Given the description of an element on the screen output the (x, y) to click on. 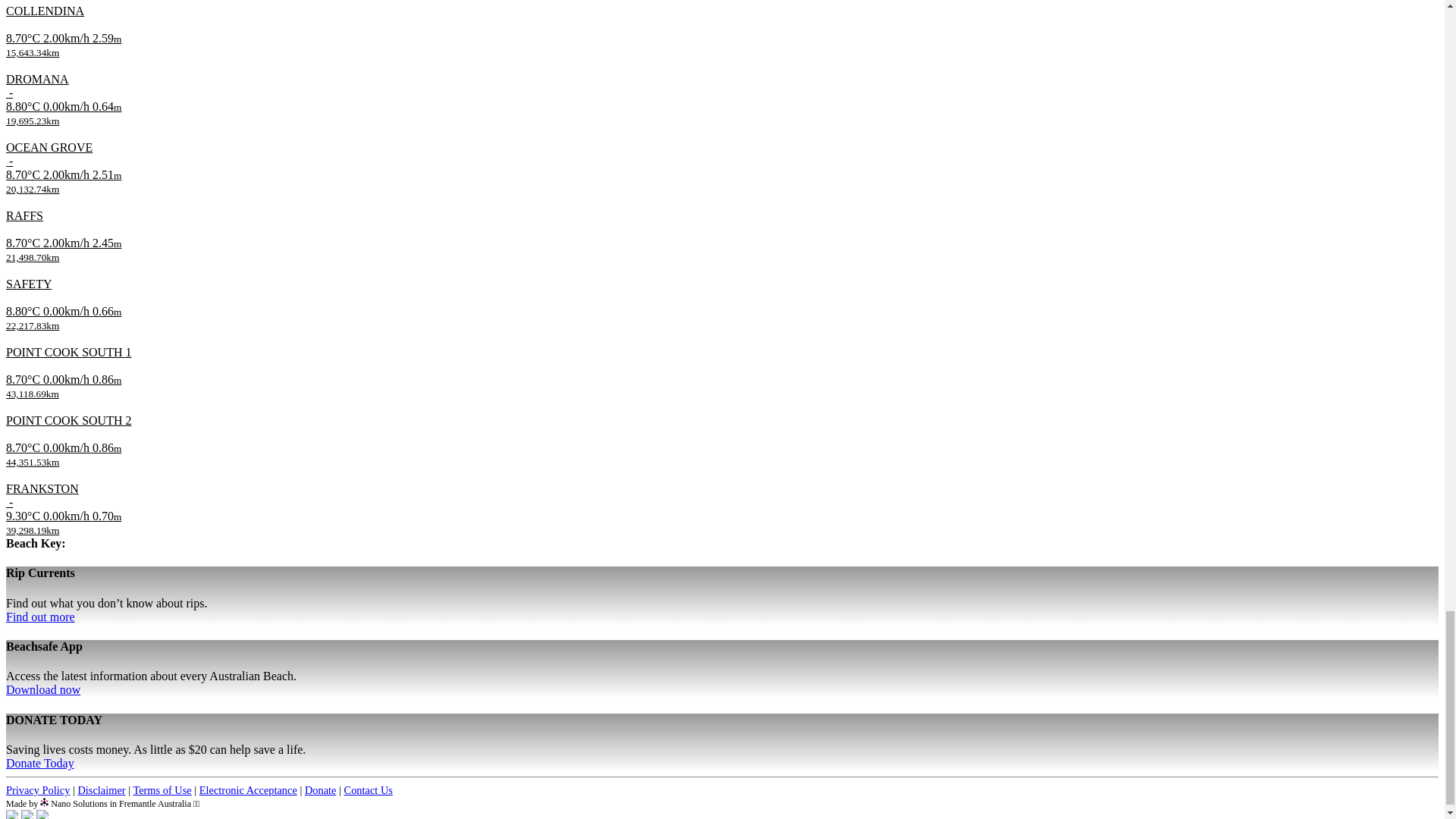
Disclaimer (101, 789)
Donate (320, 789)
Wind Speed (68, 38)
Swell (106, 38)
Find out more (40, 616)
Swell (106, 106)
Sunny. (24, 38)
Donate Today (39, 762)
Sunny. (24, 174)
Sunny. (24, 106)
Privacy Policy (37, 789)
Download now (42, 689)
Terms of Use (161, 789)
Contact Us (368, 789)
Electronic Acceptance (248, 789)
